Given the description of an element on the screen output the (x, y) to click on. 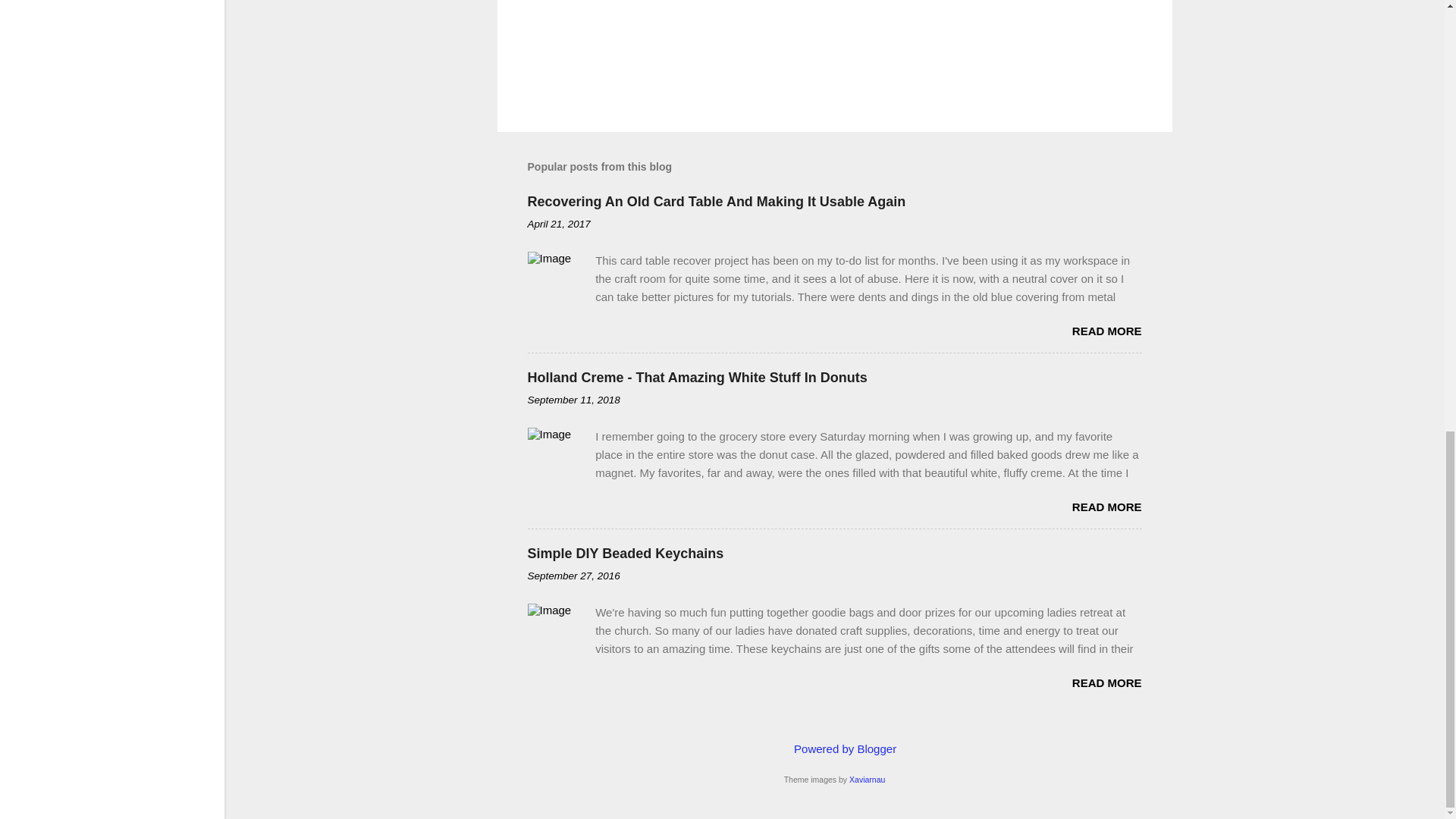
READ MORE (1106, 682)
Holland Creme - That Amazing White Stuff In Donuts (697, 377)
Xaviarnau (866, 778)
September 27, 2016 (573, 575)
April 21, 2017 (559, 224)
READ MORE (1106, 330)
September 11, 2018 (573, 399)
READ MORE (1106, 506)
Powered by Blogger (834, 748)
Recovering An Old Card Table And Making It Usable Again (716, 201)
Simple DIY Beaded Keychains (625, 553)
permanent link (559, 224)
